Given the description of an element on the screen output the (x, y) to click on. 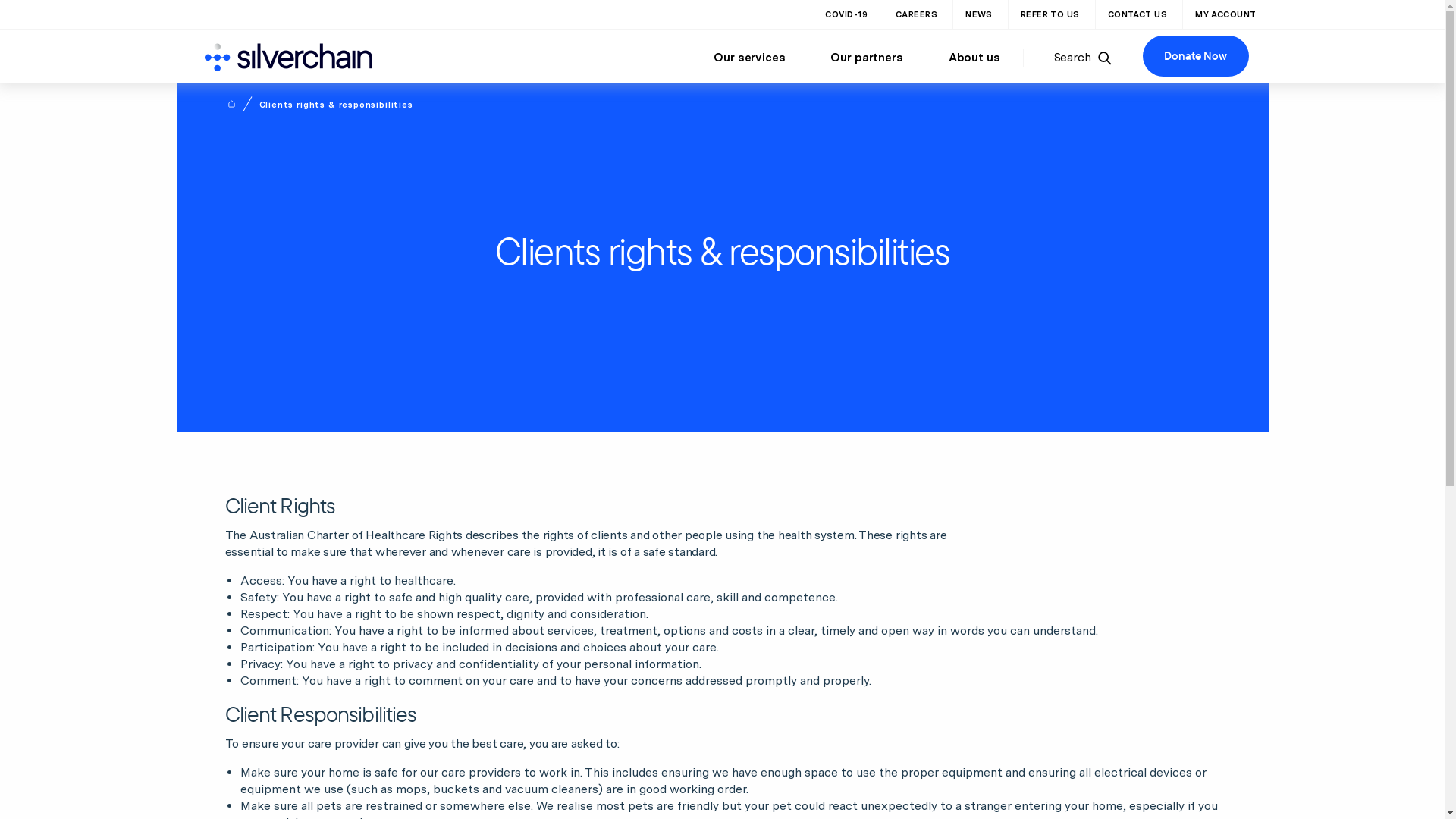
About us Element type: text (973, 57)
COVID-19 Element type: text (845, 14)
REFER TO US Element type: text (1050, 14)
CONTACT US Element type: text (1137, 14)
Donate Now Element type: text (1195, 55)
Clients rights & responsibilities Element type: text (336, 104)
Our partners Element type: text (866, 57)
MY ACCOUNT Element type: text (1225, 14)
CAREERS Element type: text (916, 14)
NEWS Element type: text (978, 14)
Our services Element type: text (748, 57)
Home Element type: text (230, 103)
